Given the description of an element on the screen output the (x, y) to click on. 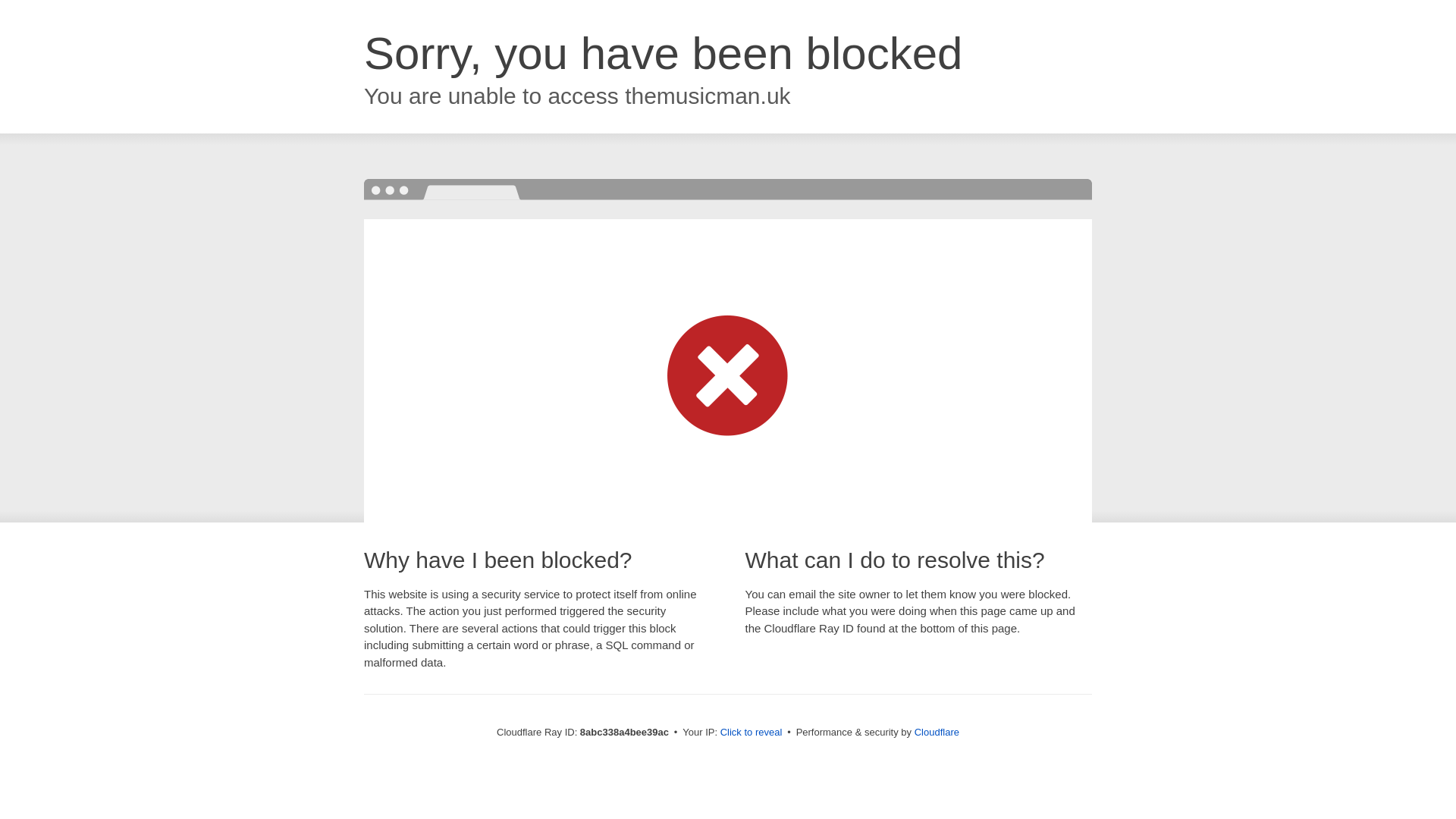
Cloudflare (936, 731)
Click to reveal (751, 732)
